Given the description of an element on the screen output the (x, y) to click on. 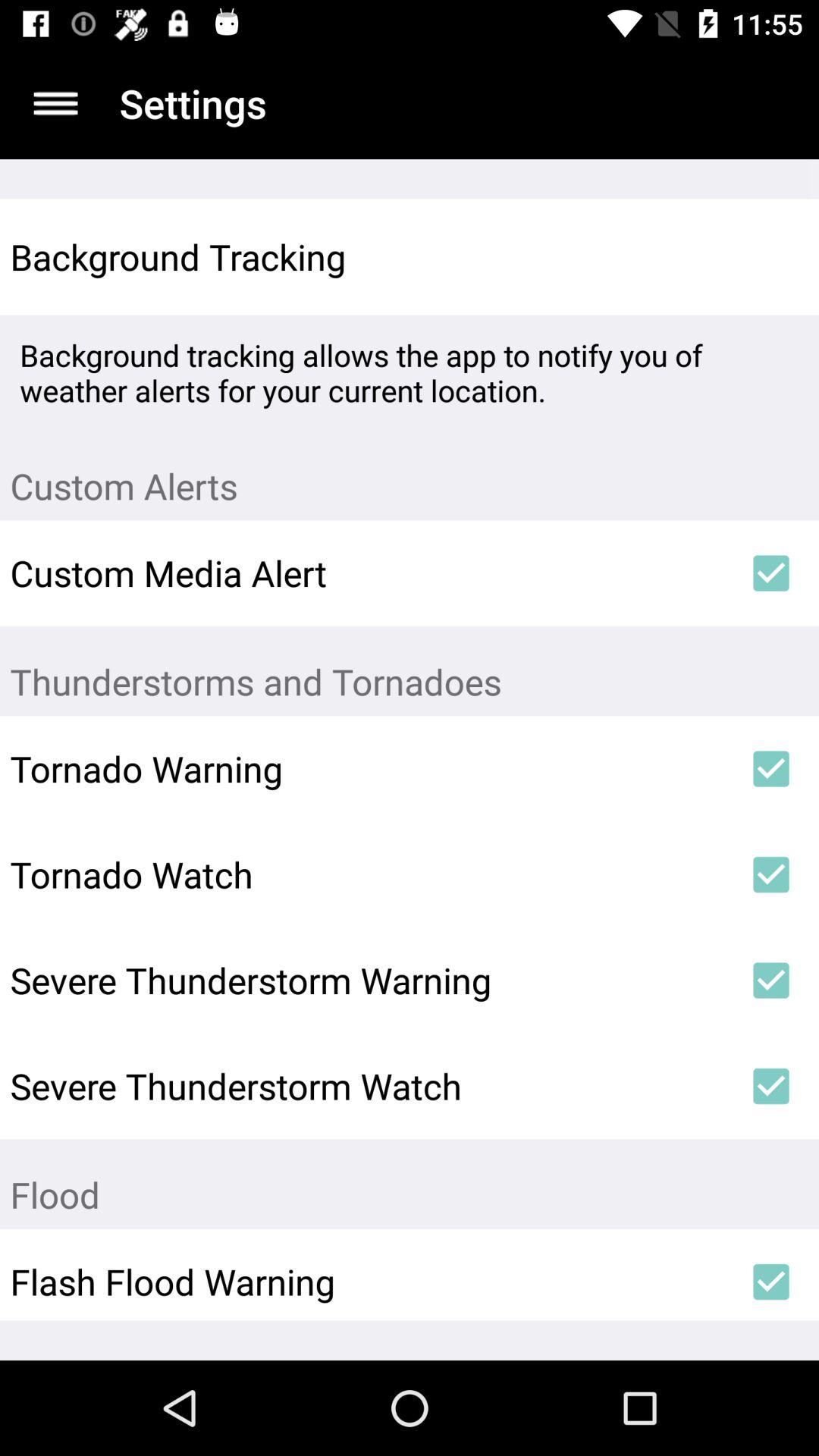
turn on the icon next to tornado warning icon (771, 768)
